Given the description of an element on the screen output the (x, y) to click on. 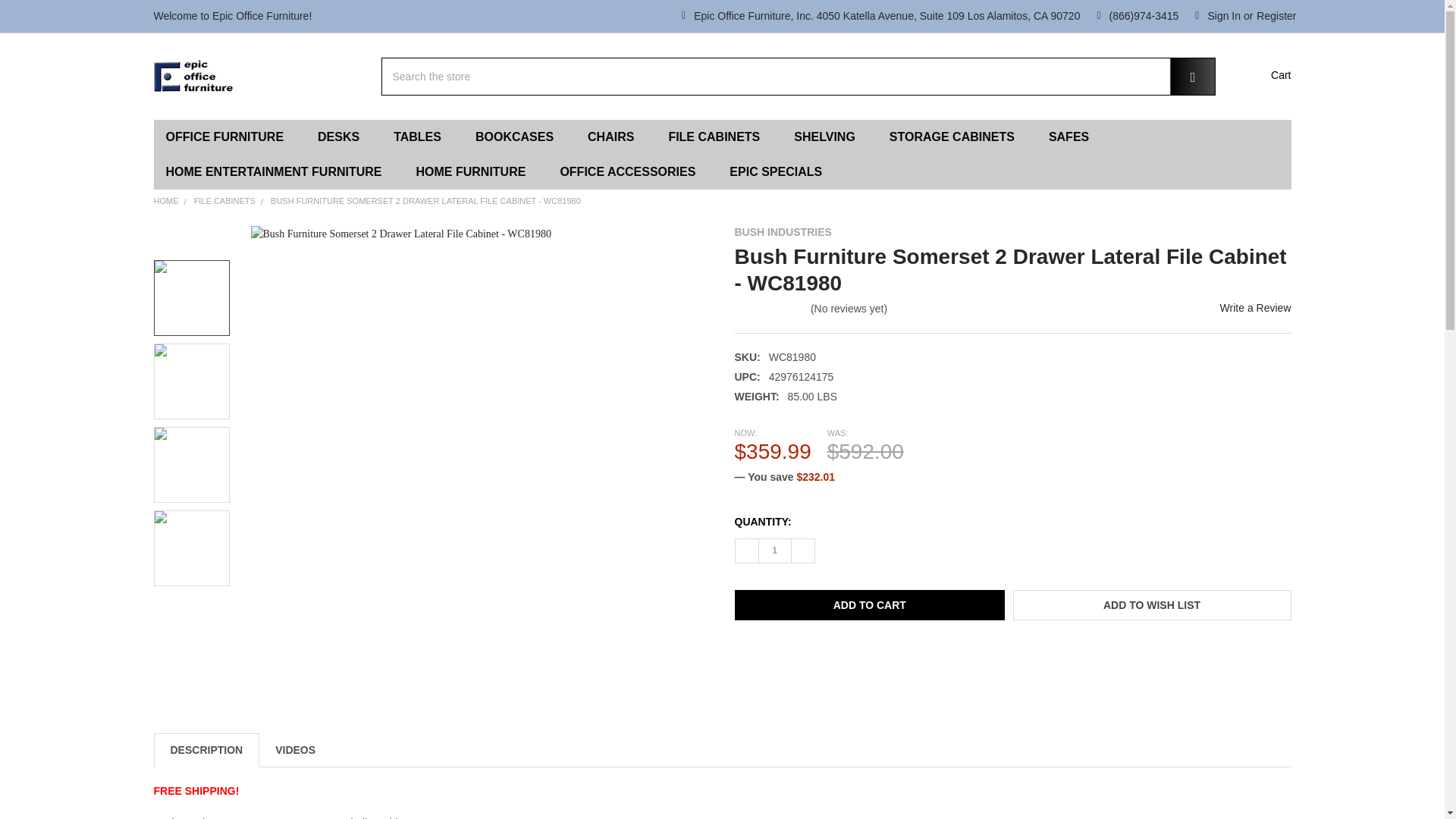
Add to Cart (868, 604)
DESKS (343, 136)
Search (1182, 76)
1 (774, 549)
TABLES (422, 136)
